Given the description of an element on the screen output the (x, y) to click on. 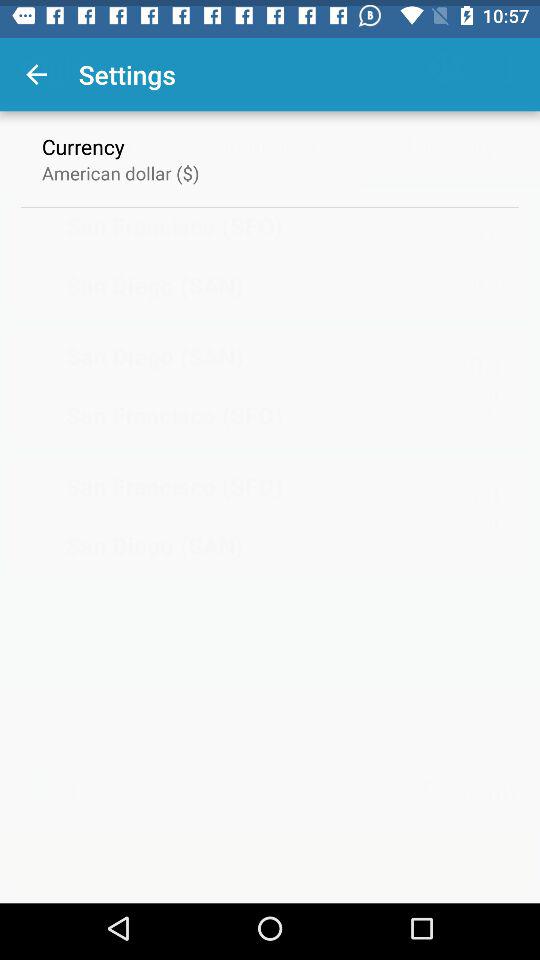
choose item below currency icon (120, 166)
